Given the description of an element on the screen output the (x, y) to click on. 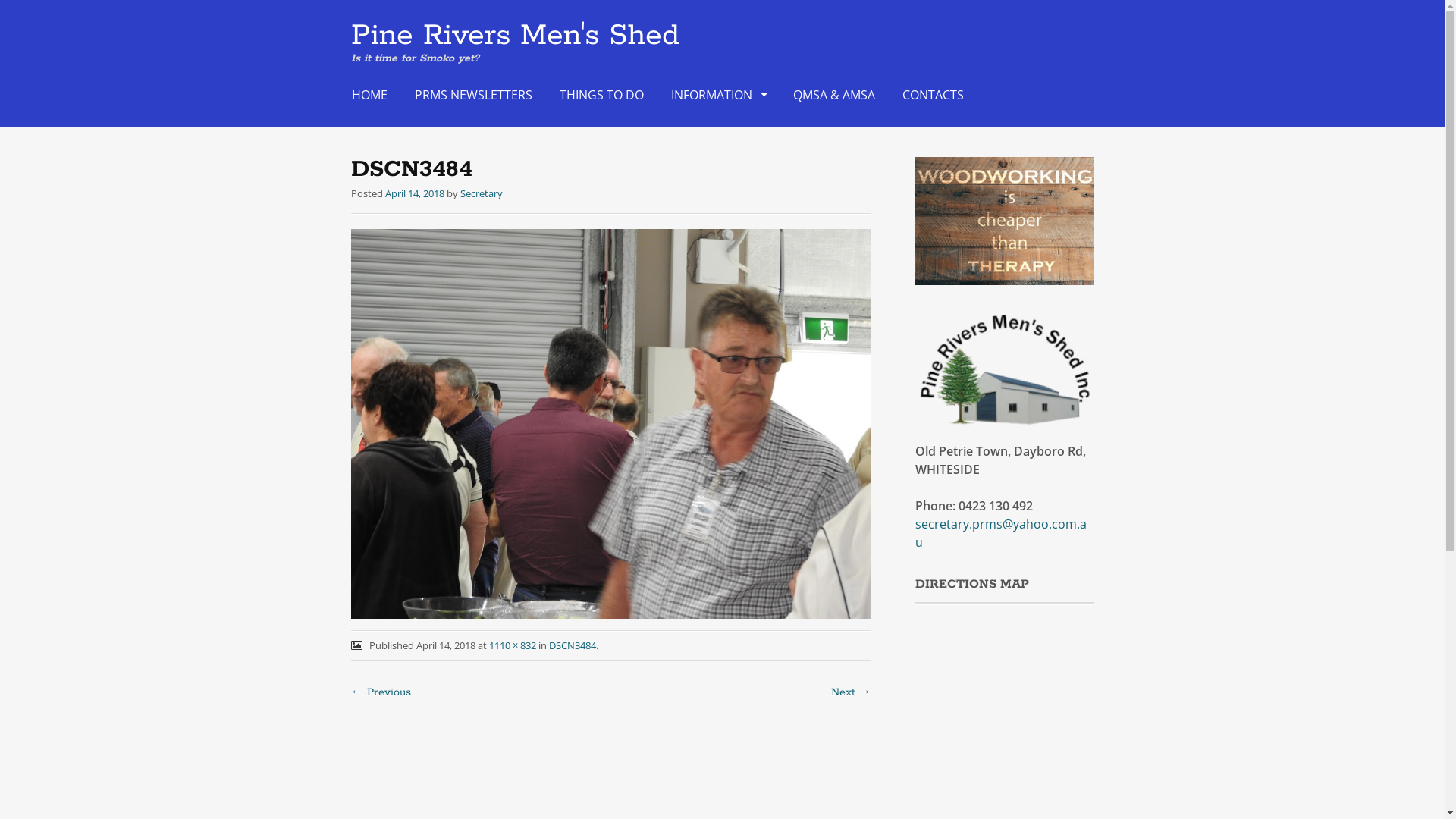
QMSA & AMSA Element type: text (834, 94)
April 14, 2018 Element type: text (414, 193)
PRMS NEWSLETTERS Element type: text (472, 94)
THINGS TO DO Element type: text (601, 94)
Secretary Element type: text (480, 193)
INFORMATION Element type: text (717, 94)
CONTACTS Element type: text (932, 94)
DSCN3484 Element type: text (572, 645)
Pine Rivers Men's Shed Element type: text (514, 35)
Skip to content Element type: text (351, 85)
HOME Element type: text (369, 94)
secretary.prms@yahoo.com.au Element type: text (1000, 532)
